Given the description of an element on the screen output the (x, y) to click on. 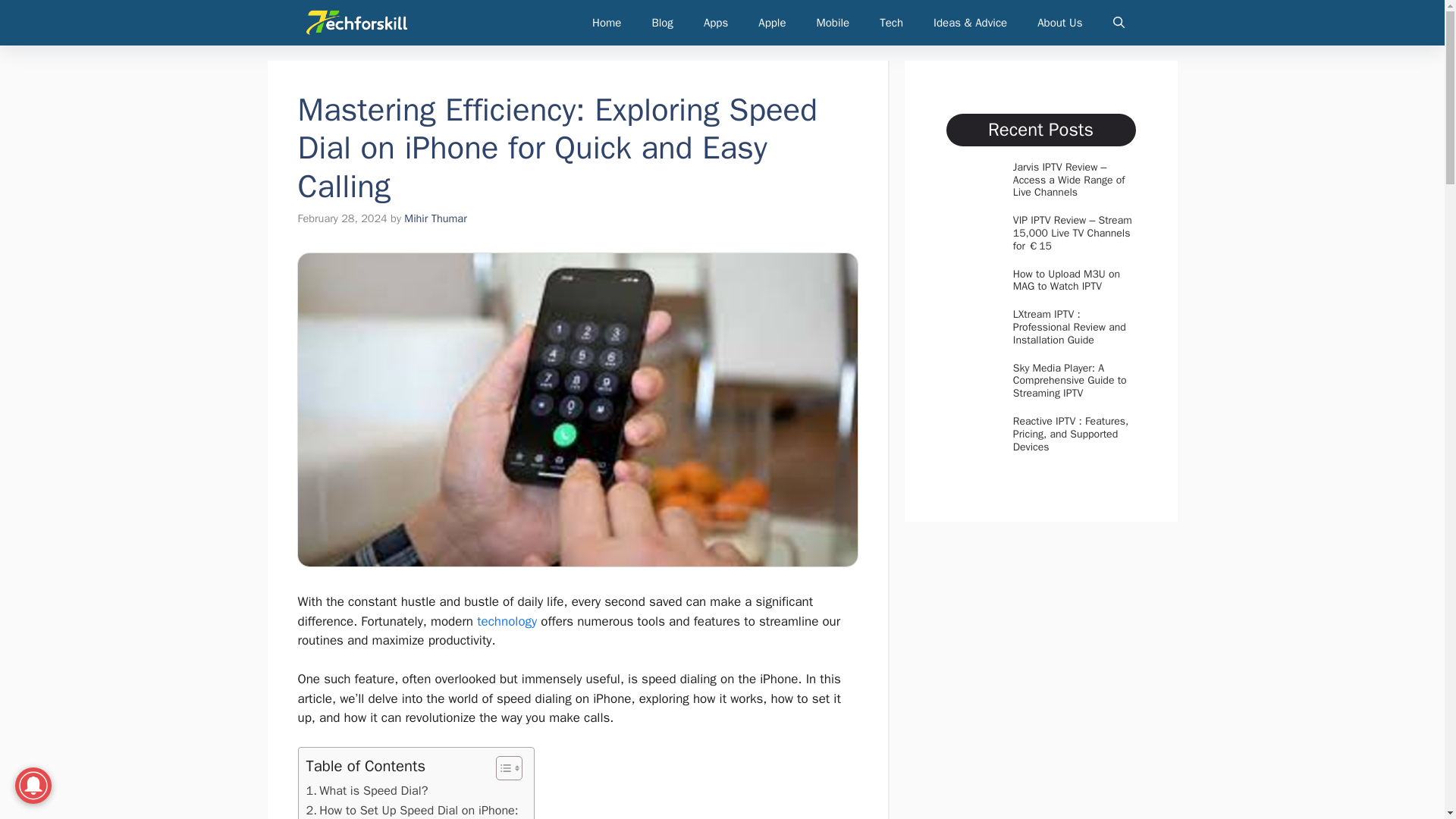
Apple (771, 22)
How to Set Up Speed Dial on iPhone: (411, 809)
What is Speed Dial? (366, 790)
How to Set Up Speed Dial on iPhone: (411, 809)
Tech (891, 22)
What is Speed Dial? (366, 790)
Home (606, 22)
How to Upload M3U on MAG to Watch IPTV (1066, 280)
Mihir Thumar (434, 218)
Techforskill (355, 22)
